Given the description of an element on the screen output the (x, y) to click on. 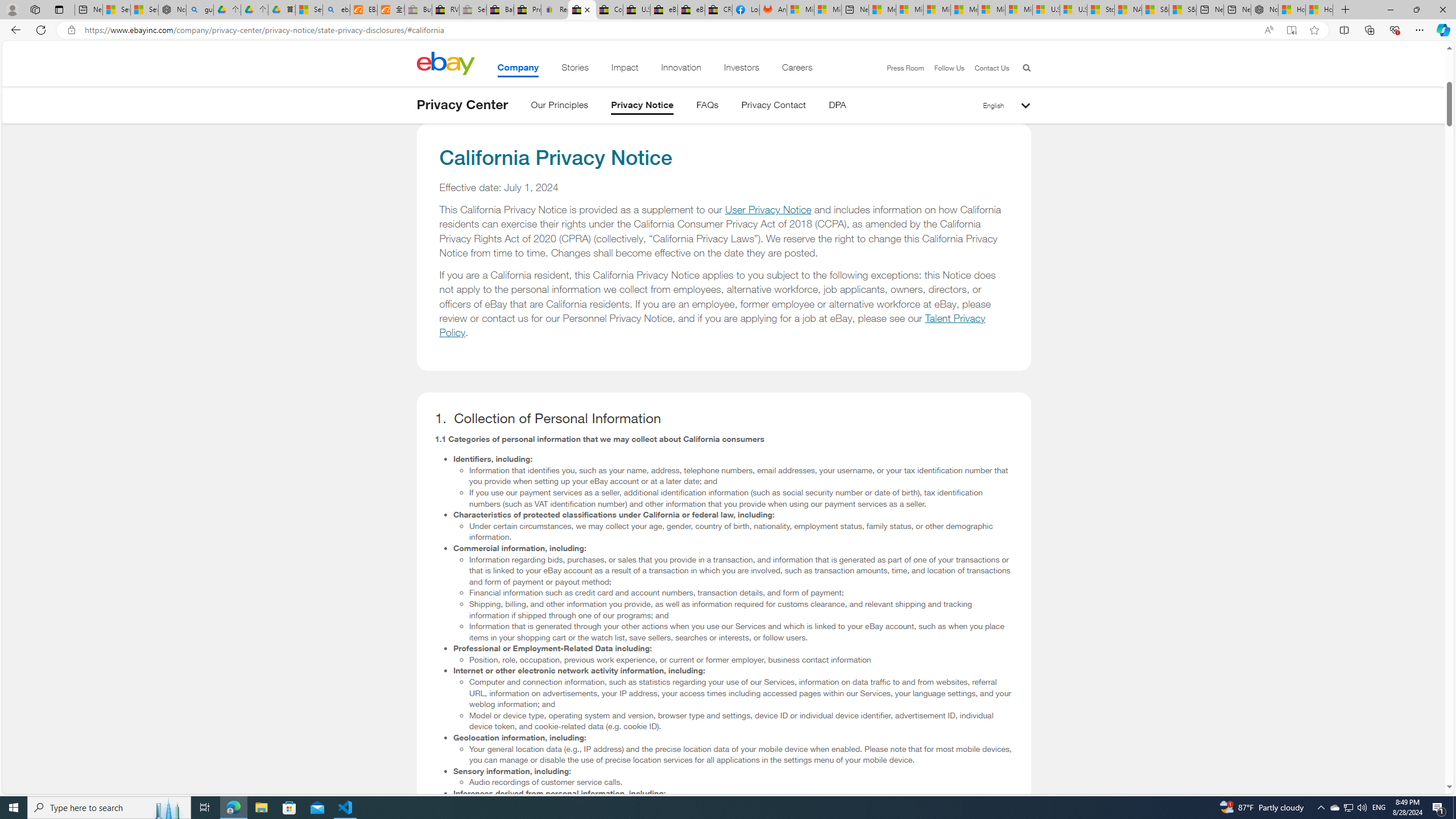
How to Use a Monitor With Your Closed Laptop (1319, 9)
Privacy Contact (773, 107)
